Given the description of an element on the screen output the (x, y) to click on. 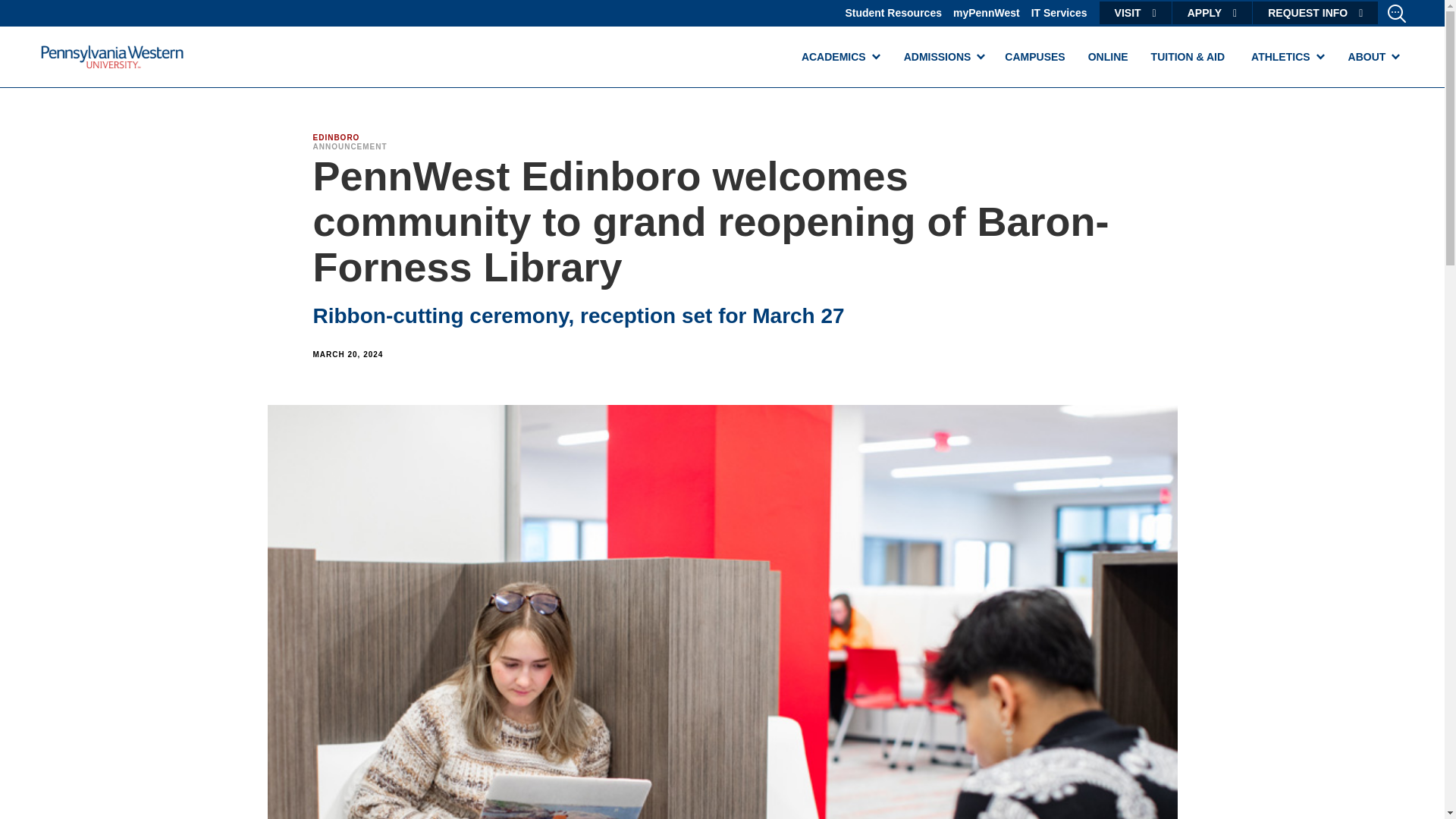
CAMPUSES (1033, 56)
myPennWest (986, 12)
IT Services (1058, 12)
Search (29, 14)
ONLINE (1108, 56)
Student Resources (893, 12)
